Given the description of an element on the screen output the (x, y) to click on. 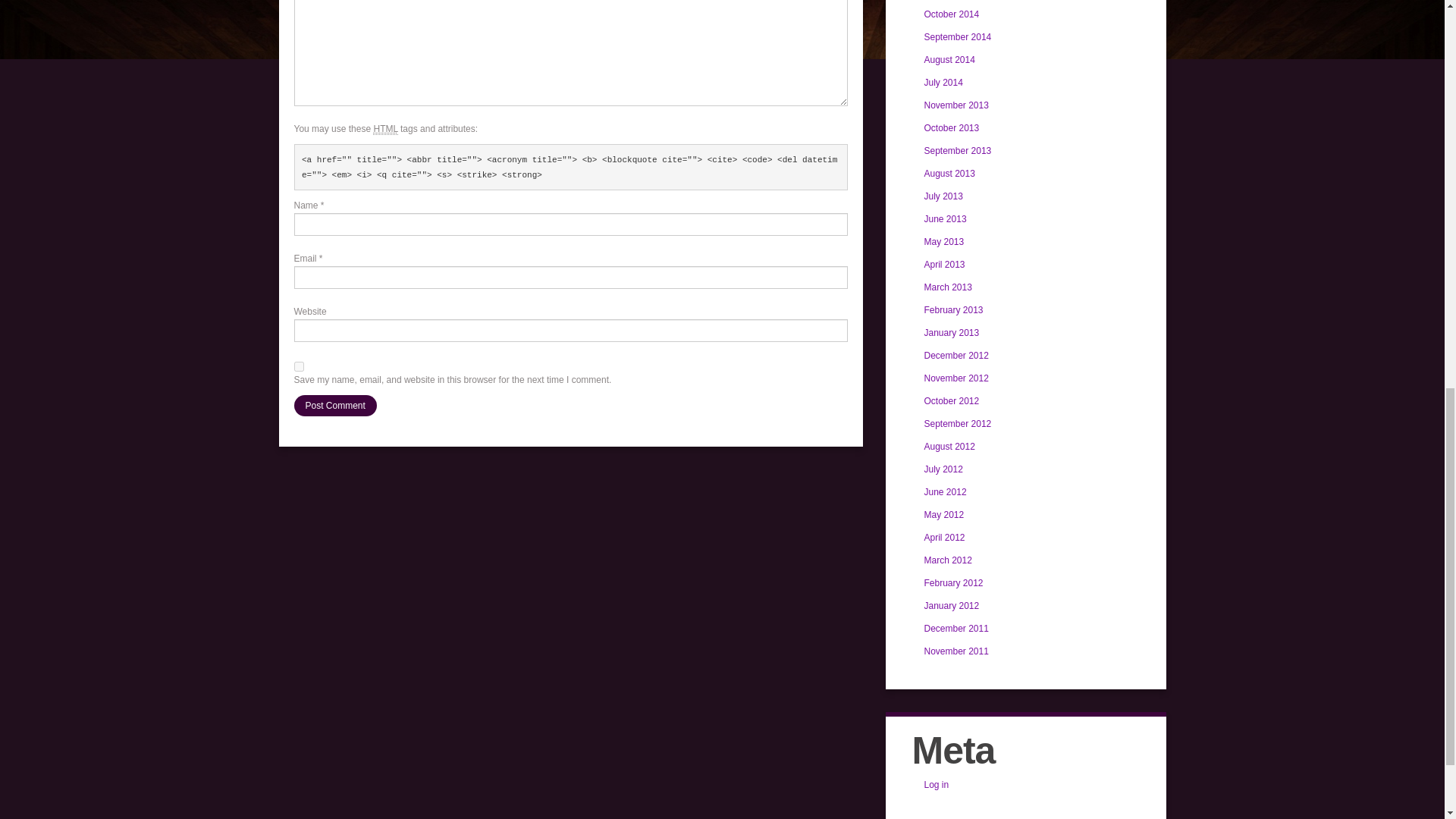
September 2014 (957, 36)
Post Comment (335, 405)
Post Comment (335, 405)
August 2014 (948, 59)
July 2014 (942, 81)
yes (299, 366)
October 2014 (950, 14)
November 2013 (955, 104)
HyperText Markup Language (384, 129)
